Given the description of an element on the screen output the (x, y) to click on. 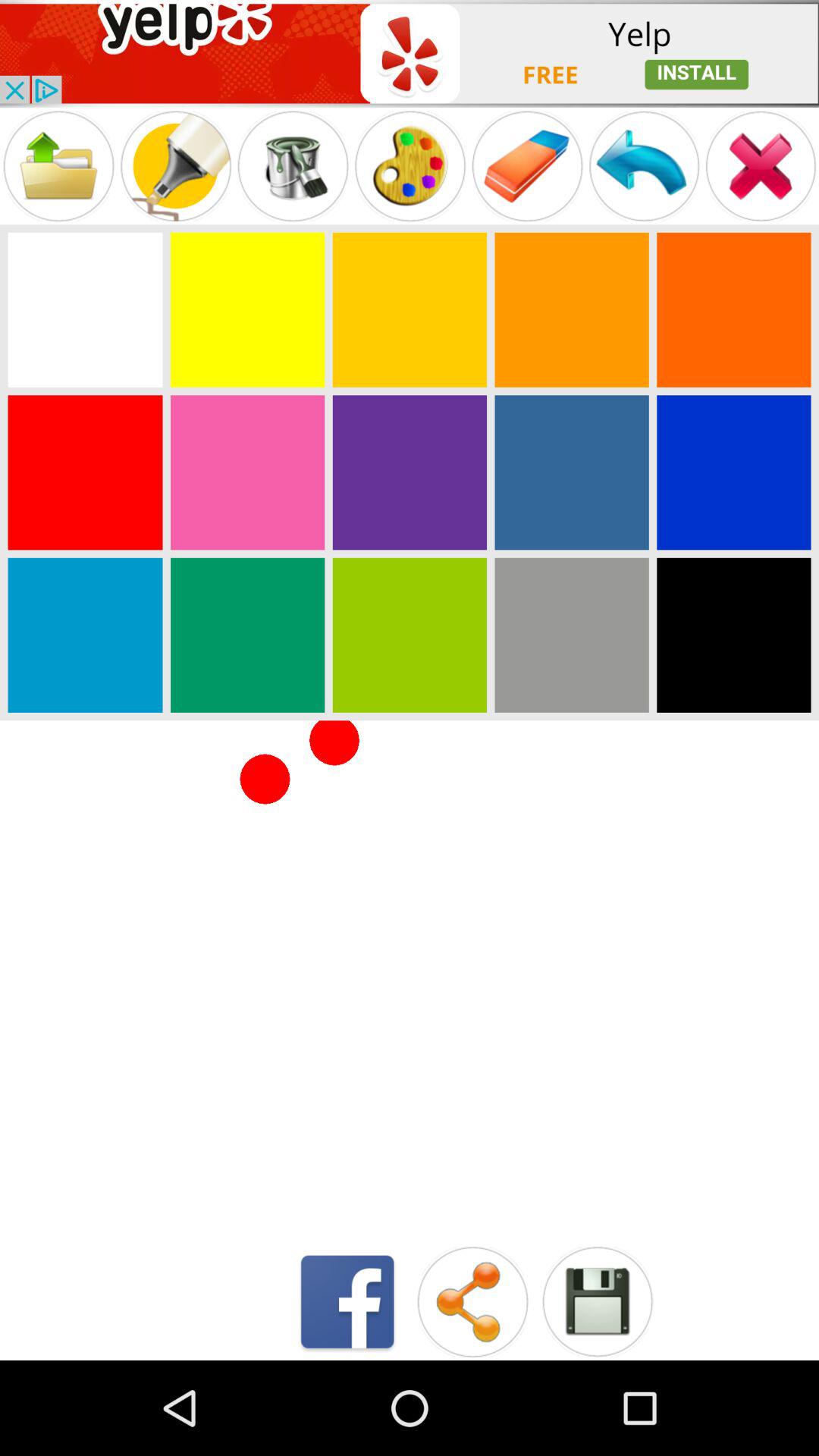
choose a color (409, 309)
